Given the description of an element on the screen output the (x, y) to click on. 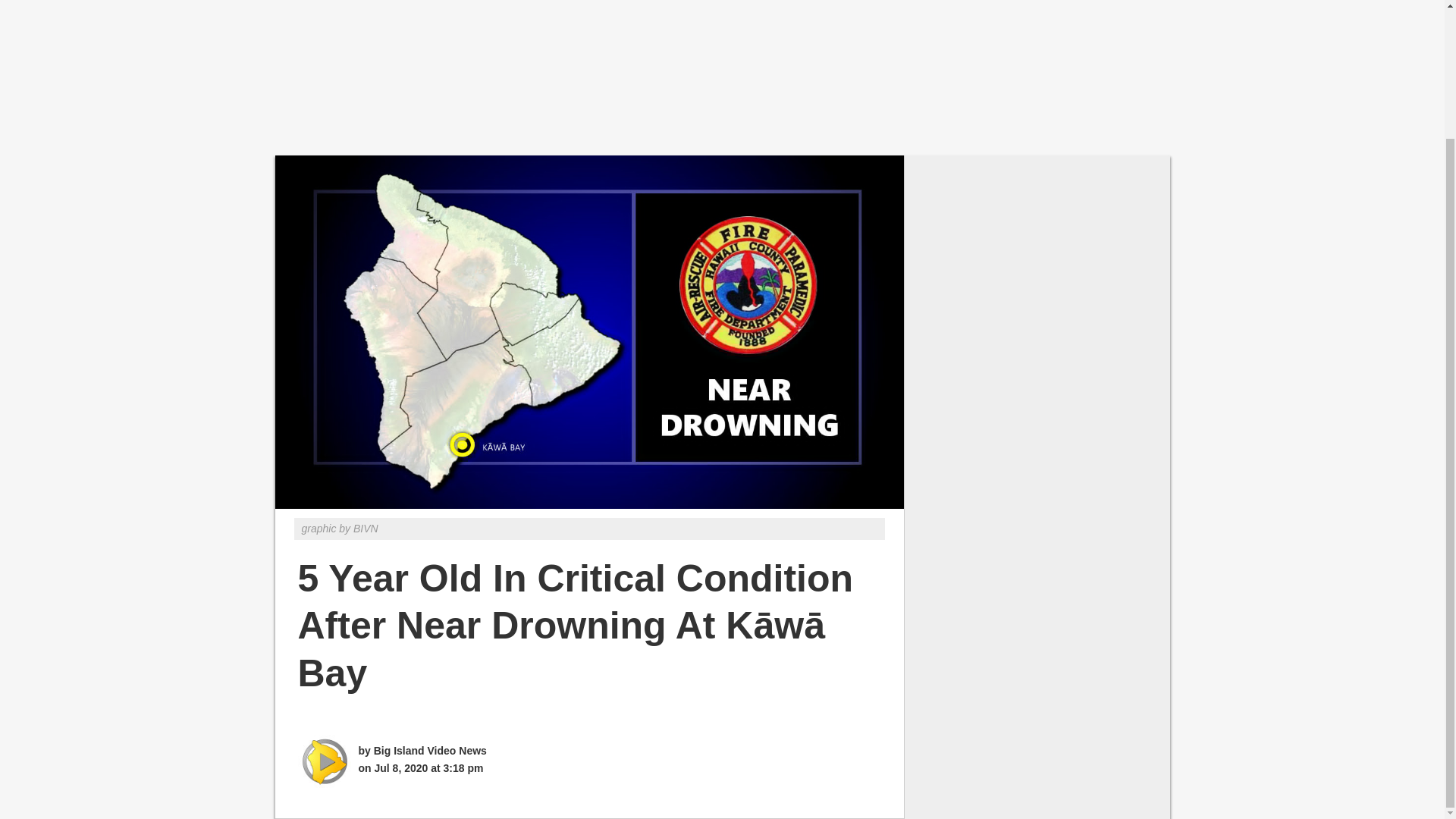
Advertisement (721, 70)
